Given the description of an element on the screen output the (x, y) to click on. 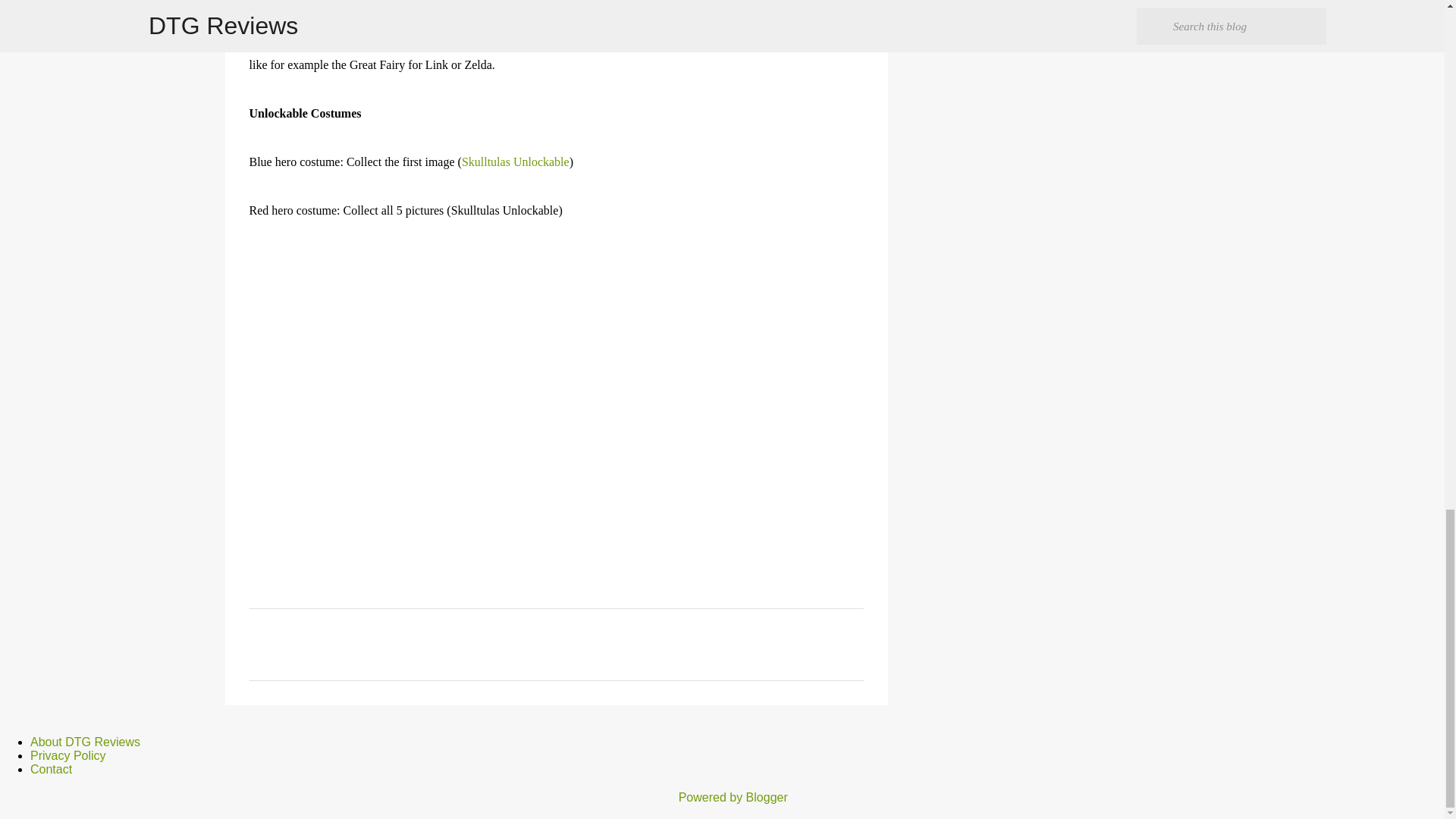
Privacy Policy (68, 755)
About DTG Reviews (84, 741)
Skulltulas Unlockable (515, 161)
Contact (50, 768)
Powered by Blogger (721, 797)
